Given the description of an element on the screen output the (x, y) to click on. 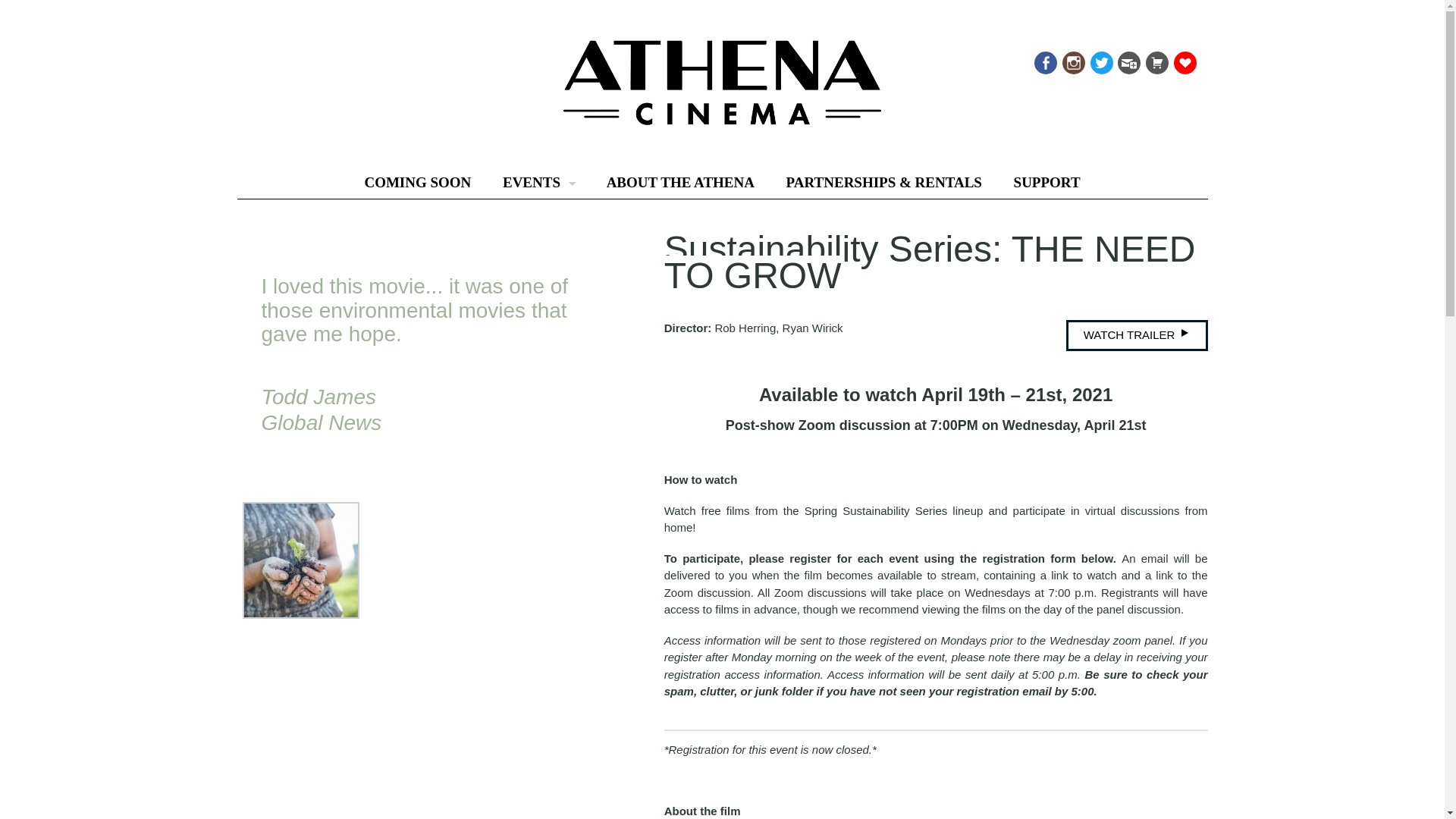
COMING SOON (416, 183)
Purchase an Athena Membership (1155, 58)
EVENTS (538, 183)
Find us on Instagram (1071, 58)
Facebook Athena Cinema (1044, 58)
SUPPORT (1046, 183)
Join Our Email List (1127, 58)
Make a Donation (1182, 58)
ABOUT THE ATHENA (680, 183)
Follow Us on Twitter (1100, 58)
